Given the description of an element on the screen output the (x, y) to click on. 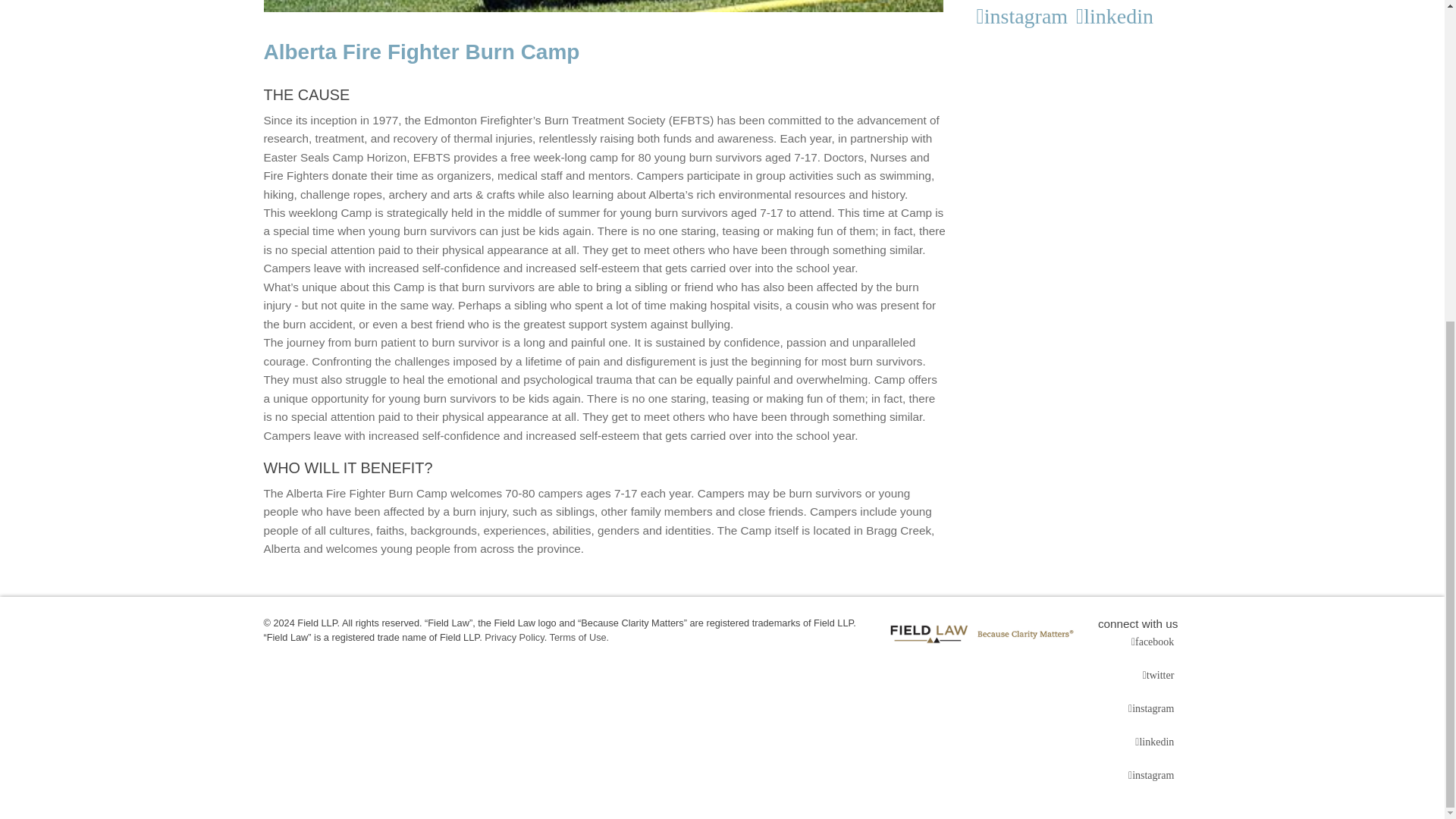
instagram (1025, 16)
instagram (1152, 709)
twitter (1159, 675)
facebook (1154, 642)
instagram (1152, 775)
linkedin (1116, 16)
Terms of Use. (580, 636)
Privacy Policy (513, 636)
linkedin (1156, 742)
